Given the description of an element on the screen output the (x, y) to click on. 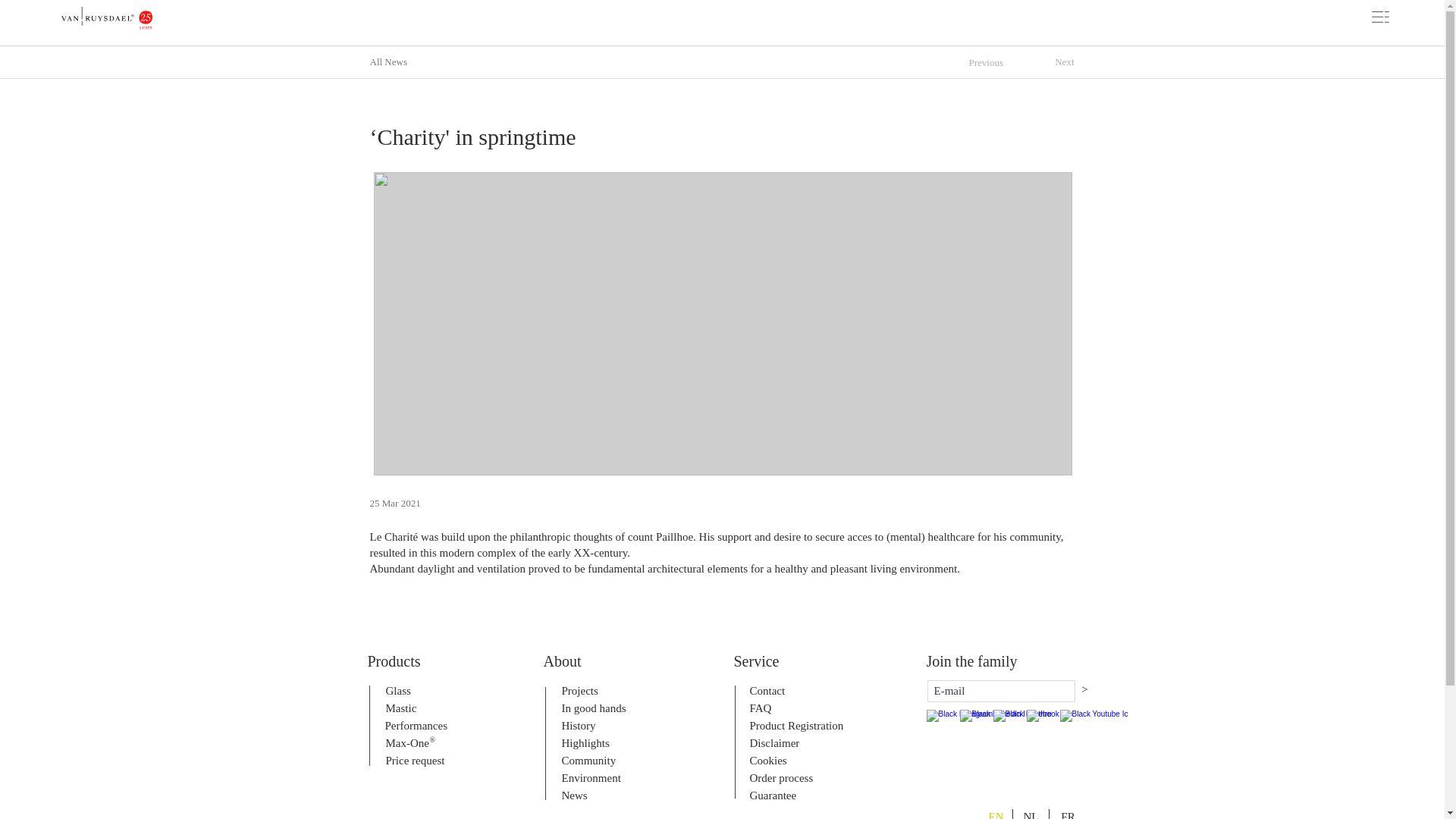
Price request (426, 760)
Product Registration (800, 725)
In good hands (602, 708)
FR (1068, 812)
Glass (426, 690)
Community (602, 760)
Environment (602, 777)
All News (418, 61)
Next (1047, 61)
News (602, 795)
